Given the description of an element on the screen output the (x, y) to click on. 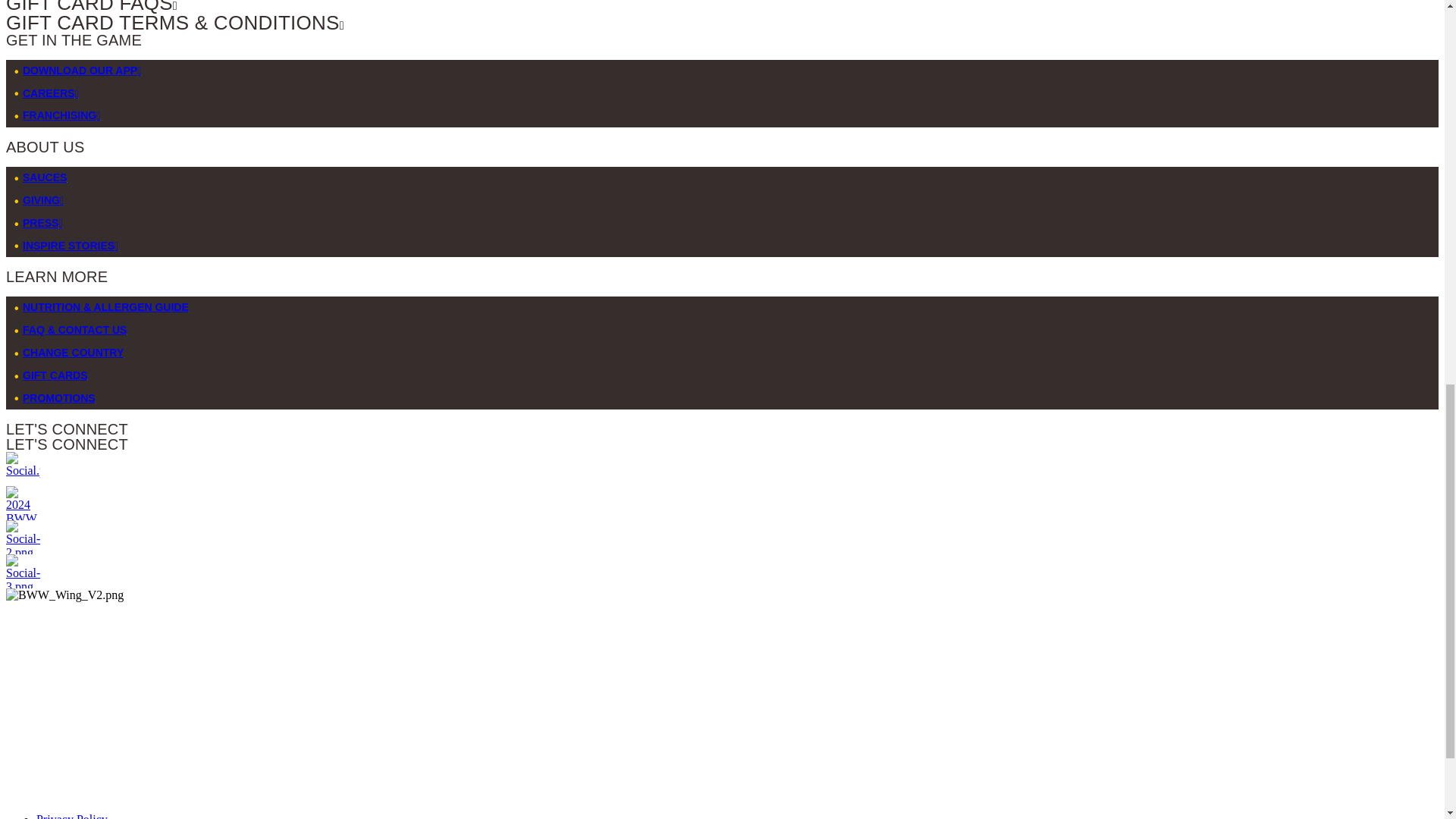
DOWNLOAD OUR APP (82, 70)
PRESS (42, 223)
Privacy Policy (71, 816)
PROMOTIONS (59, 398)
SAUCES (44, 177)
INSPIRE STORIES (70, 245)
CAREERS (50, 92)
GIVING (43, 200)
CHANGE COUNTRY (73, 352)
FRANCHISING (61, 114)
GIFT CARDS (55, 375)
